Given the description of an element on the screen output the (x, y) to click on. 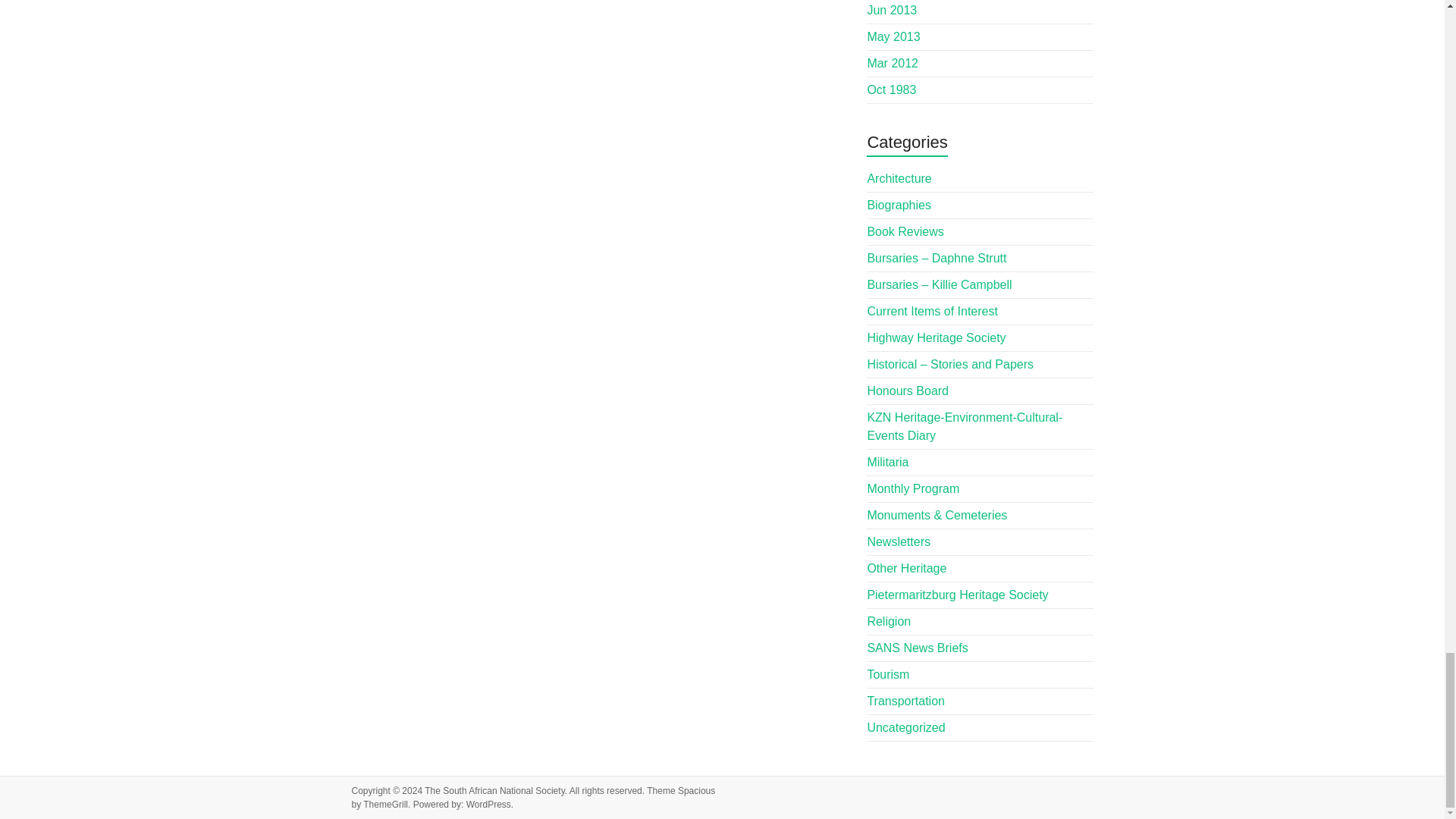
WordPress (488, 804)
Spacious (696, 790)
The South African National Society (494, 790)
